Given the description of an element on the screen output the (x, y) to click on. 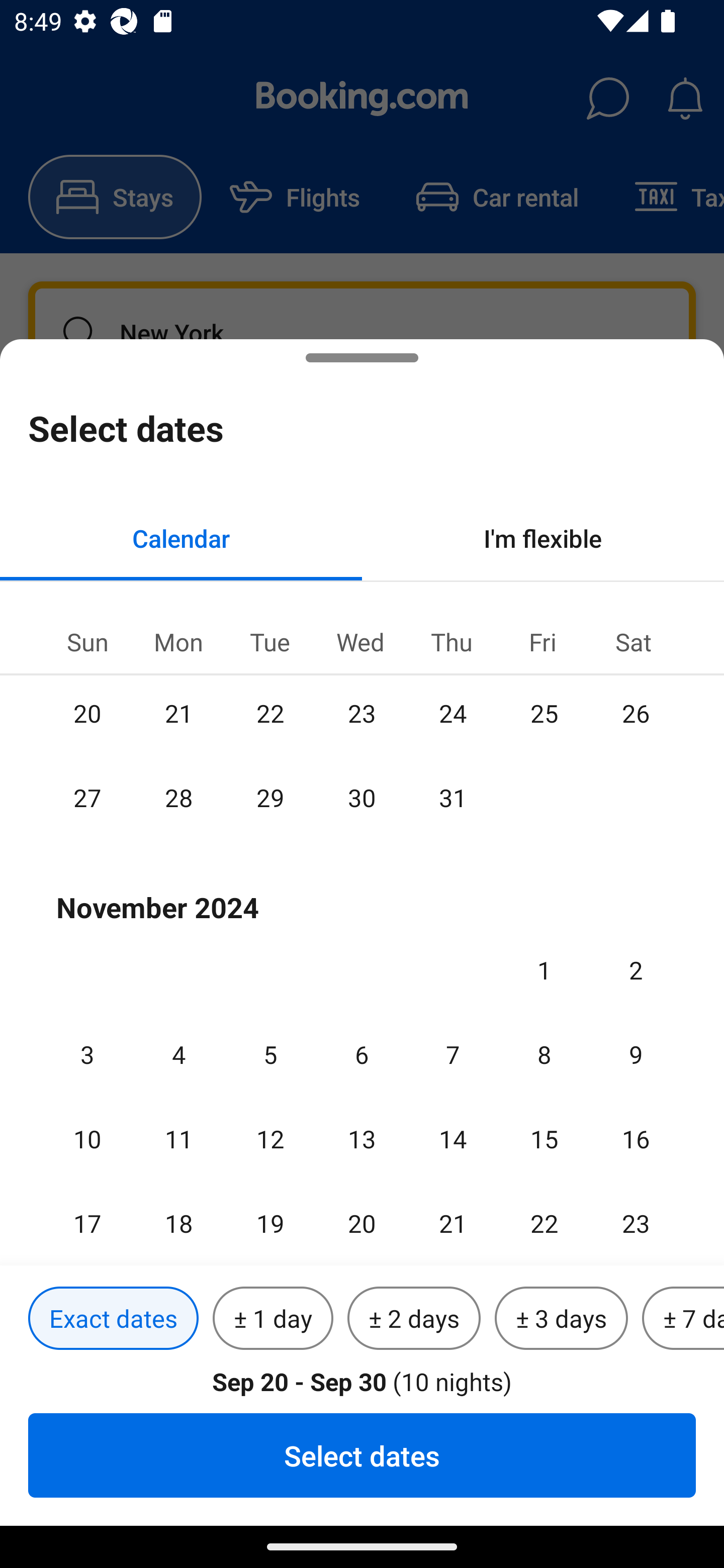
I'm flexible (543, 537)
Exact dates (113, 1318)
± 1 day (272, 1318)
± 2 days (413, 1318)
± 3 days (560, 1318)
± 7 days (683, 1318)
Select dates (361, 1454)
